Given the description of an element on the screen output the (x, y) to click on. 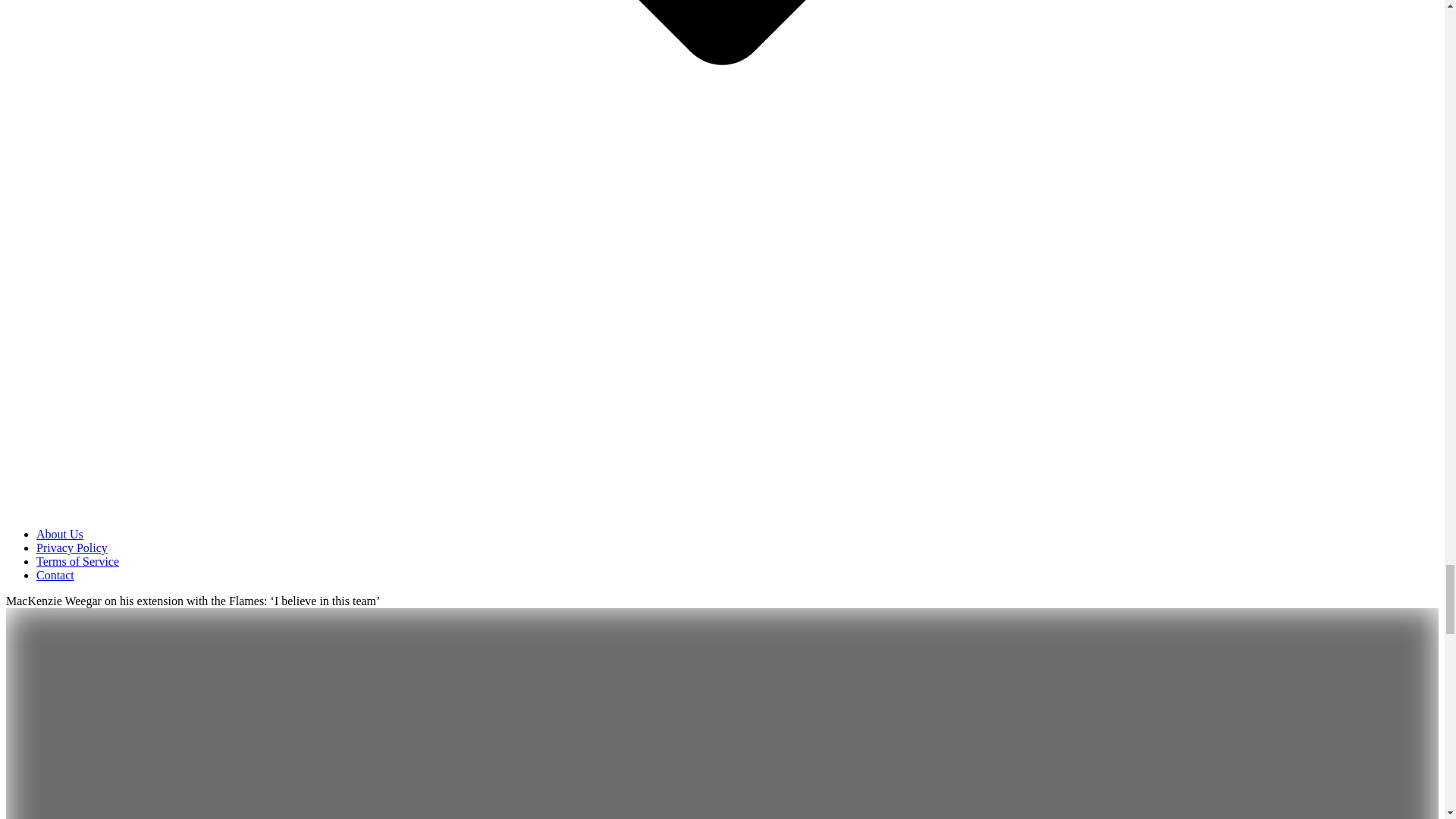
About Us (59, 533)
Privacy Policy (71, 547)
Contact (55, 574)
Terms of Service (77, 561)
